Given the description of an element on the screen output the (x, y) to click on. 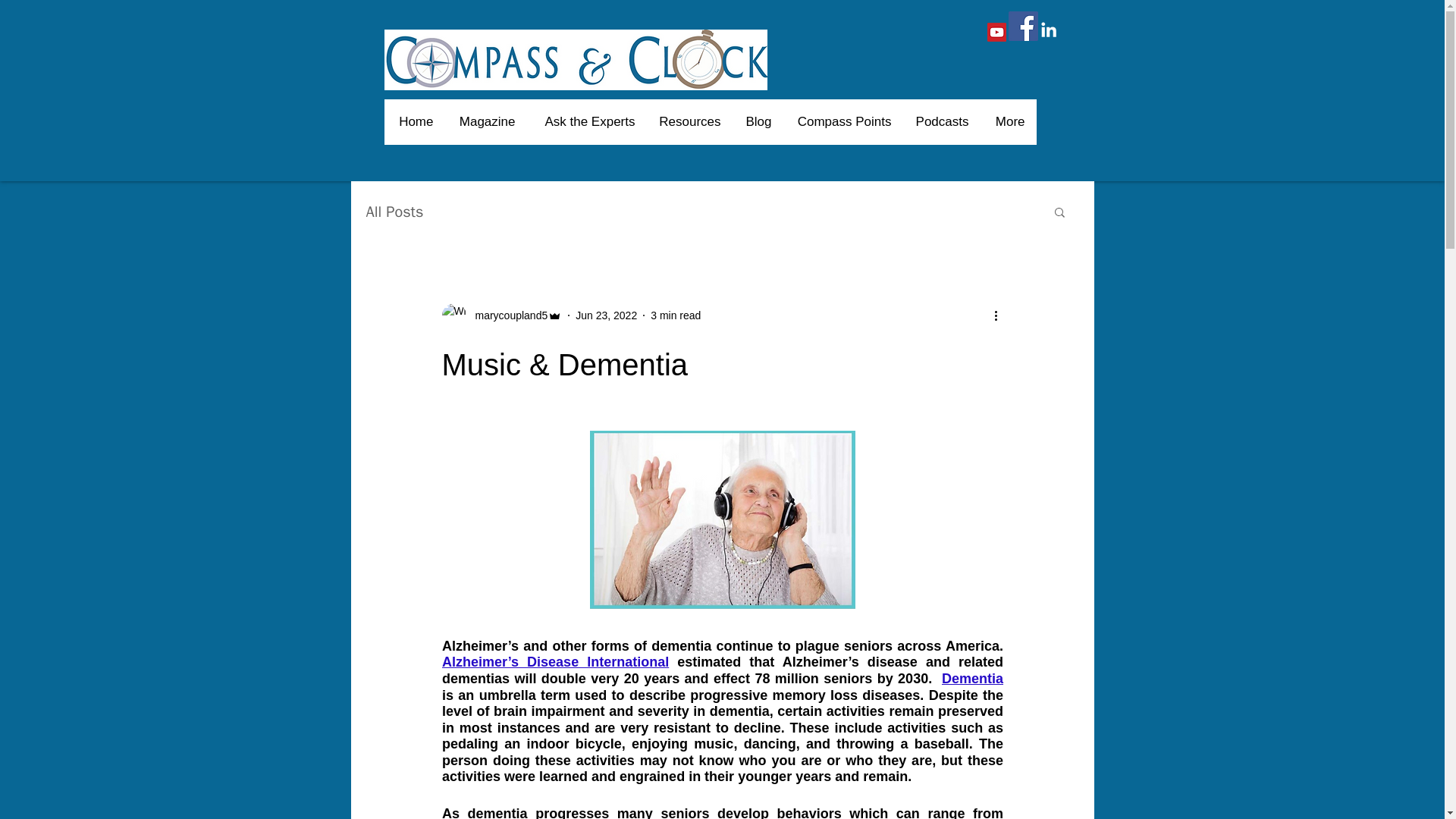
Jun 23, 2022 (606, 315)
Home (415, 121)
marycoupland5 (506, 315)
3 min read (675, 315)
marycoupland5 (501, 315)
Ask the Experts (585, 121)
Resources (689, 121)
Compass Points (842, 121)
Dementia (971, 678)
More (1007, 121)
